Given the description of an element on the screen output the (x, y) to click on. 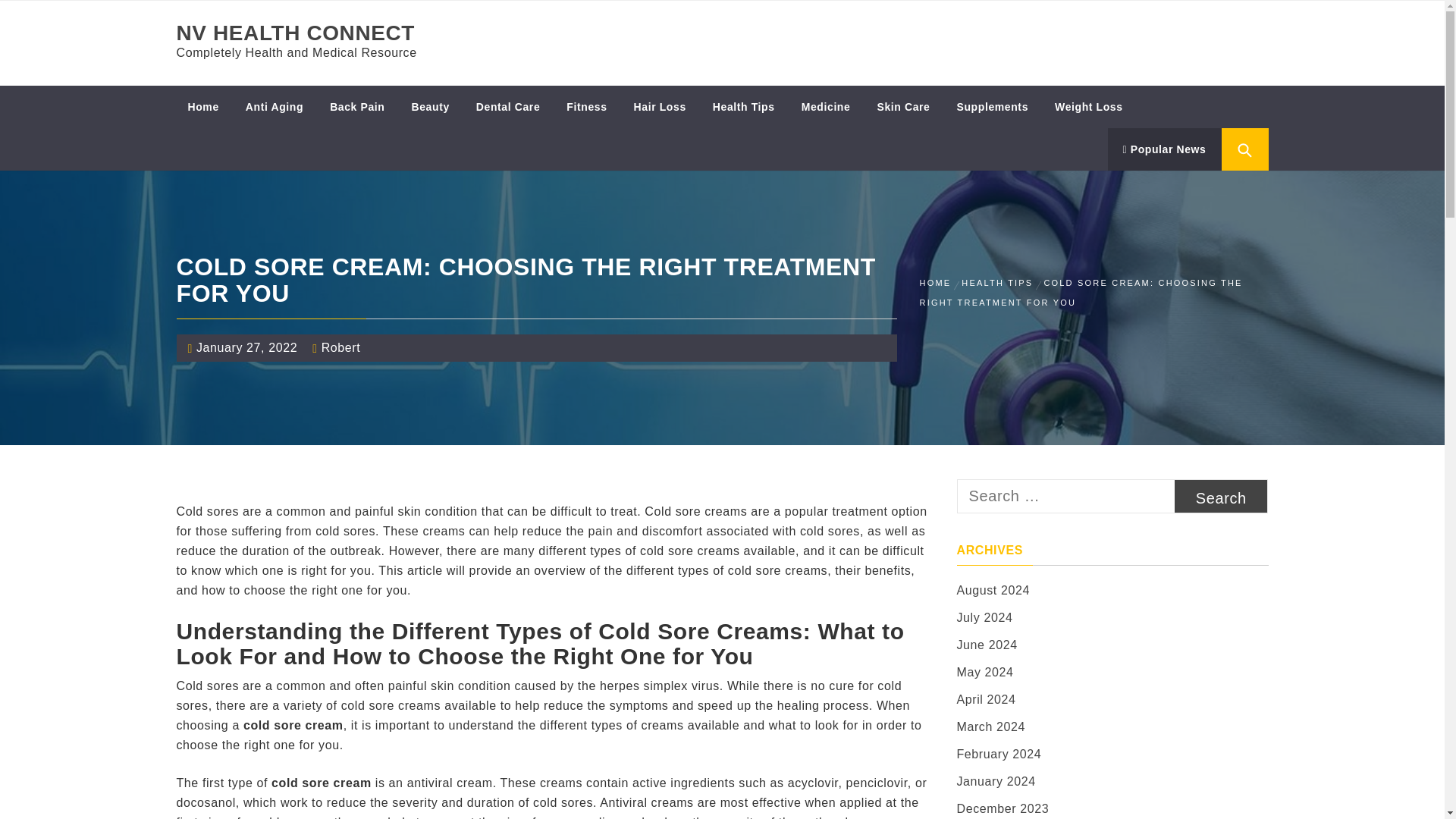
HOME (937, 282)
Search (1221, 496)
Fitness (585, 106)
Skin Care (902, 106)
Health Tips (743, 106)
Dental Care (507, 106)
Hair Loss (660, 106)
Popular News (1163, 148)
HEALTH TIPS (997, 282)
Beauty (430, 106)
